Given the description of an element on the screen output the (x, y) to click on. 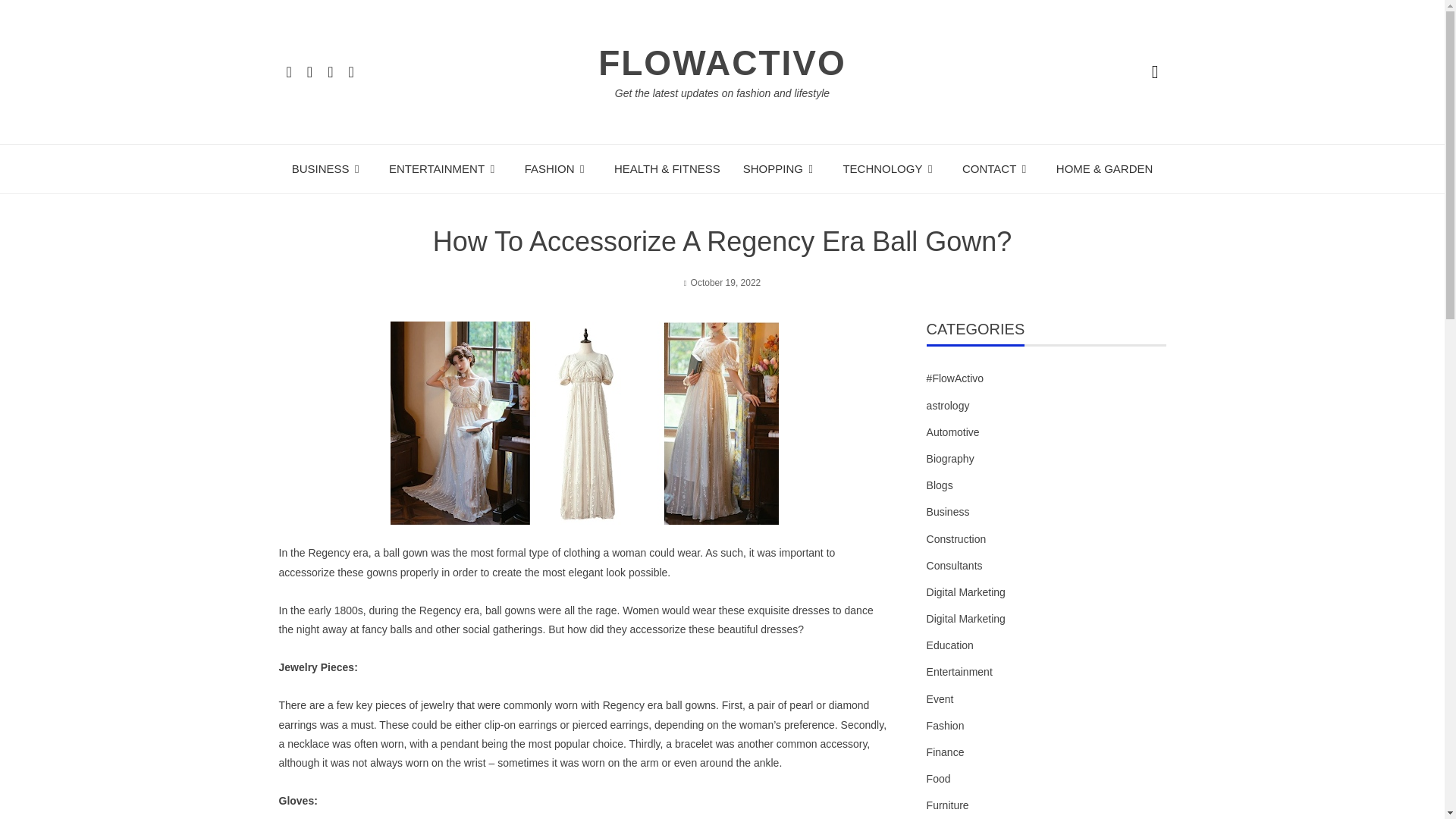
SHOPPING (781, 168)
BUSINESS (329, 168)
Business (947, 511)
Blogs (939, 485)
Automotive (952, 432)
Biography (950, 458)
CONTACT (997, 168)
Regency era ball gowns (659, 705)
FASHION (557, 168)
astrology (947, 405)
Get the latest updates on fashion and lifestyle (721, 92)
ENTERTAINMENT (445, 168)
TECHNOLOGY (891, 168)
FLOWACTIVO (721, 62)
